Given the description of an element on the screen output the (x, y) to click on. 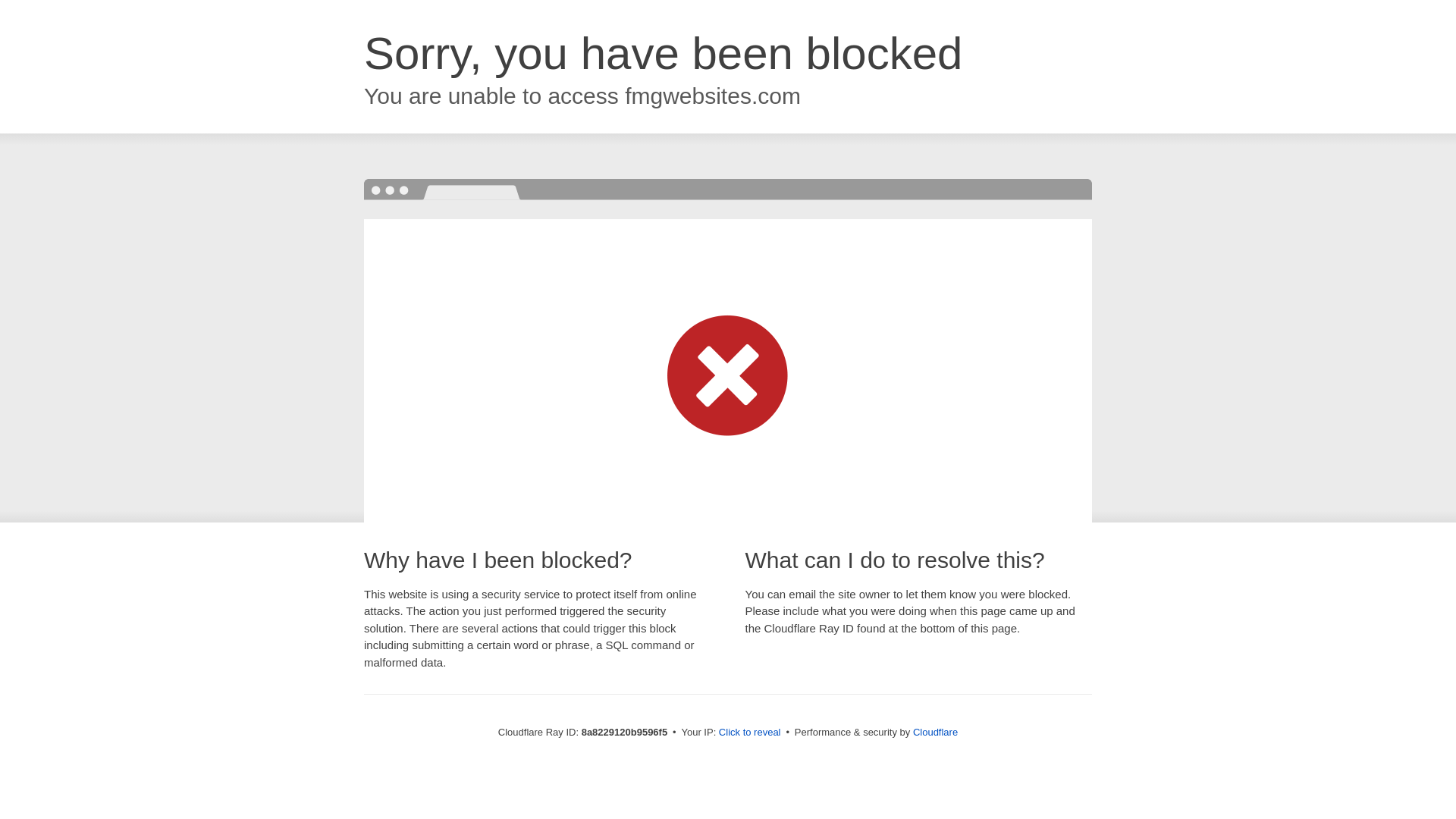
Click to reveal (749, 732)
Cloudflare (935, 731)
